Given the description of an element on the screen output the (x, y) to click on. 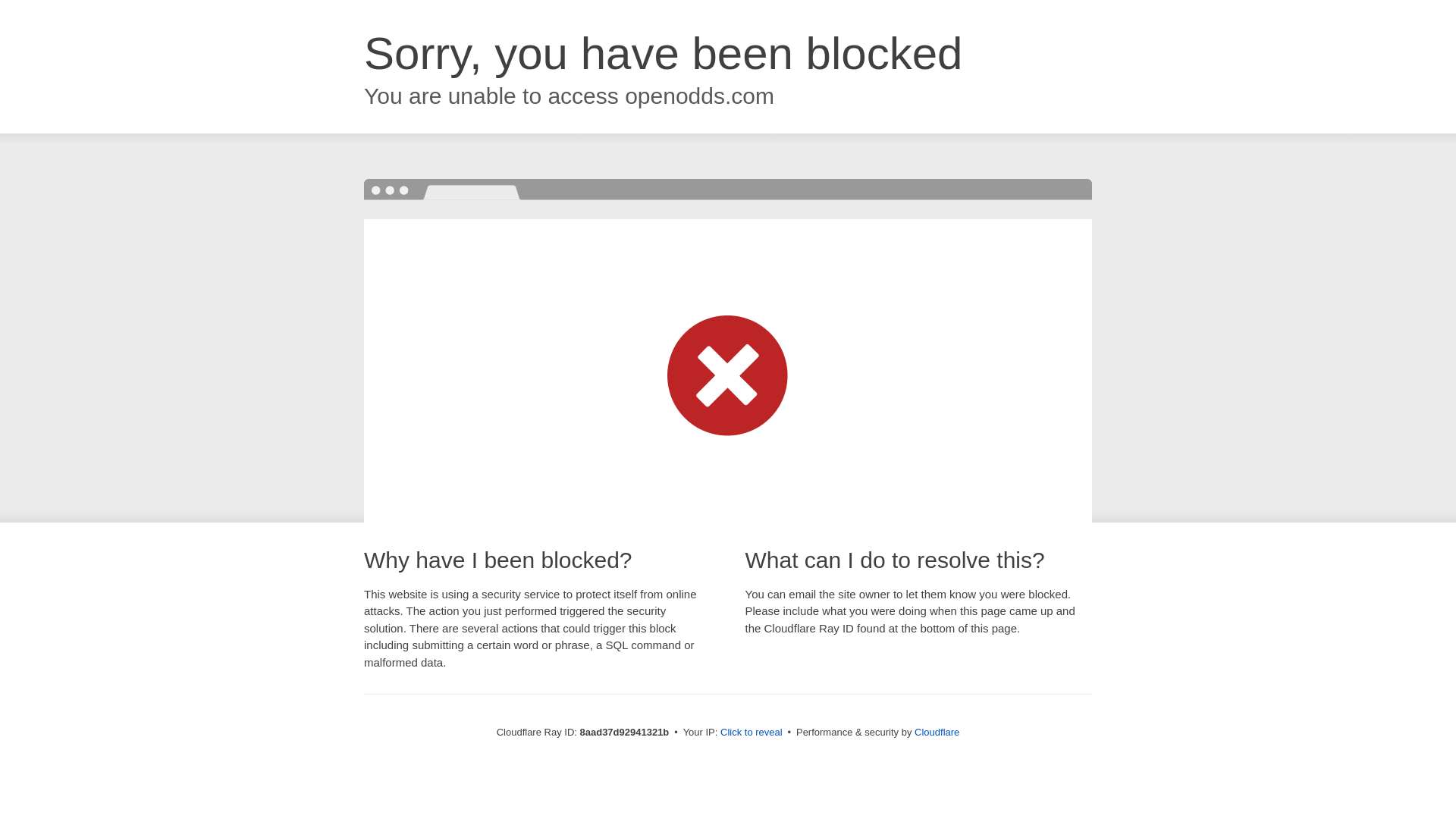
Click to reveal (751, 732)
Cloudflare (936, 731)
